Given the description of an element on the screen output the (x, y) to click on. 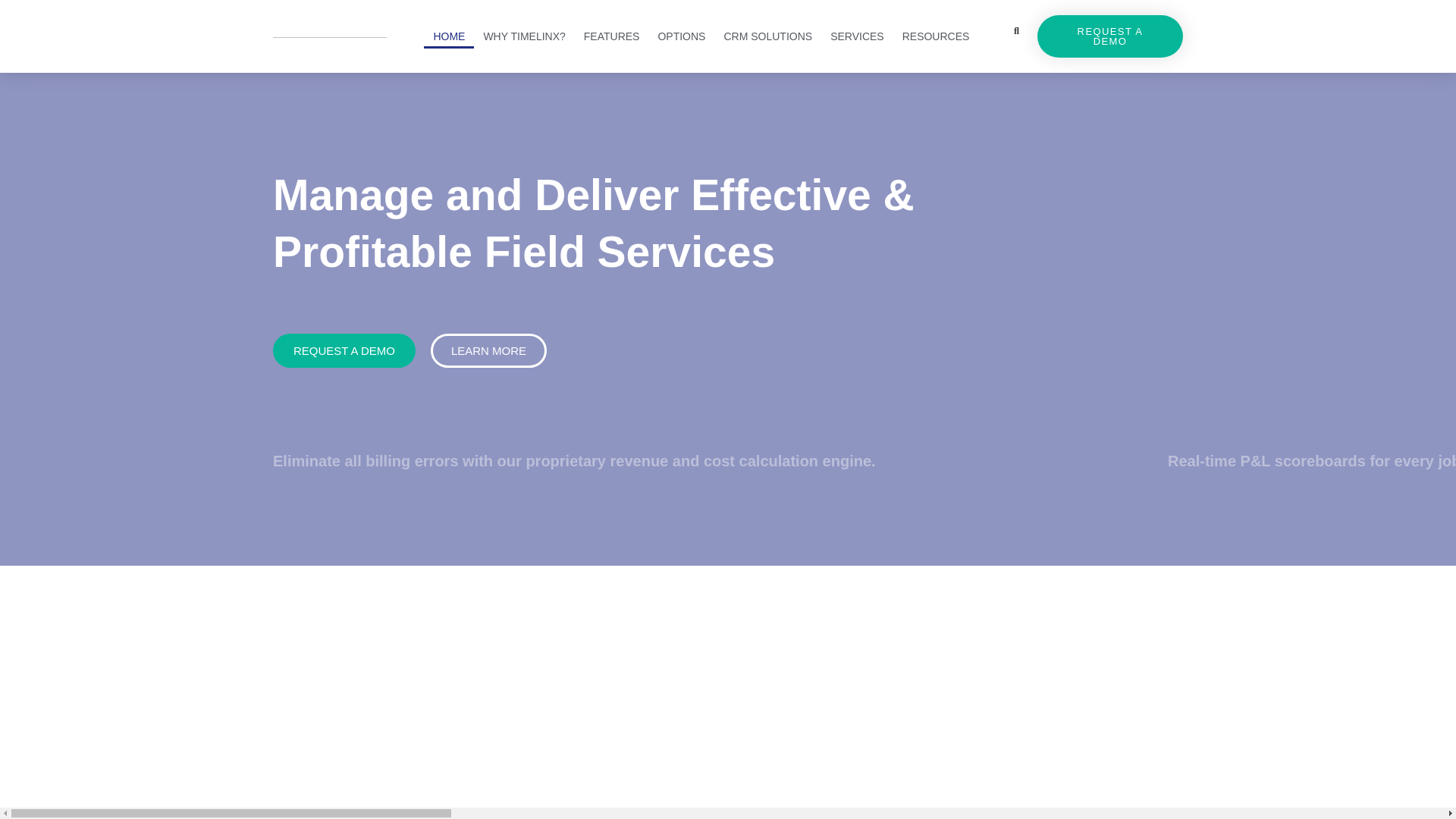
RESOURCES (935, 36)
CRM SOLUTIONS (767, 36)
WHY TIMELINX? (523, 36)
SERVICES (857, 36)
HOME (448, 36)
OPTIONS (680, 36)
FEATURES (612, 36)
